Given the description of an element on the screen output the (x, y) to click on. 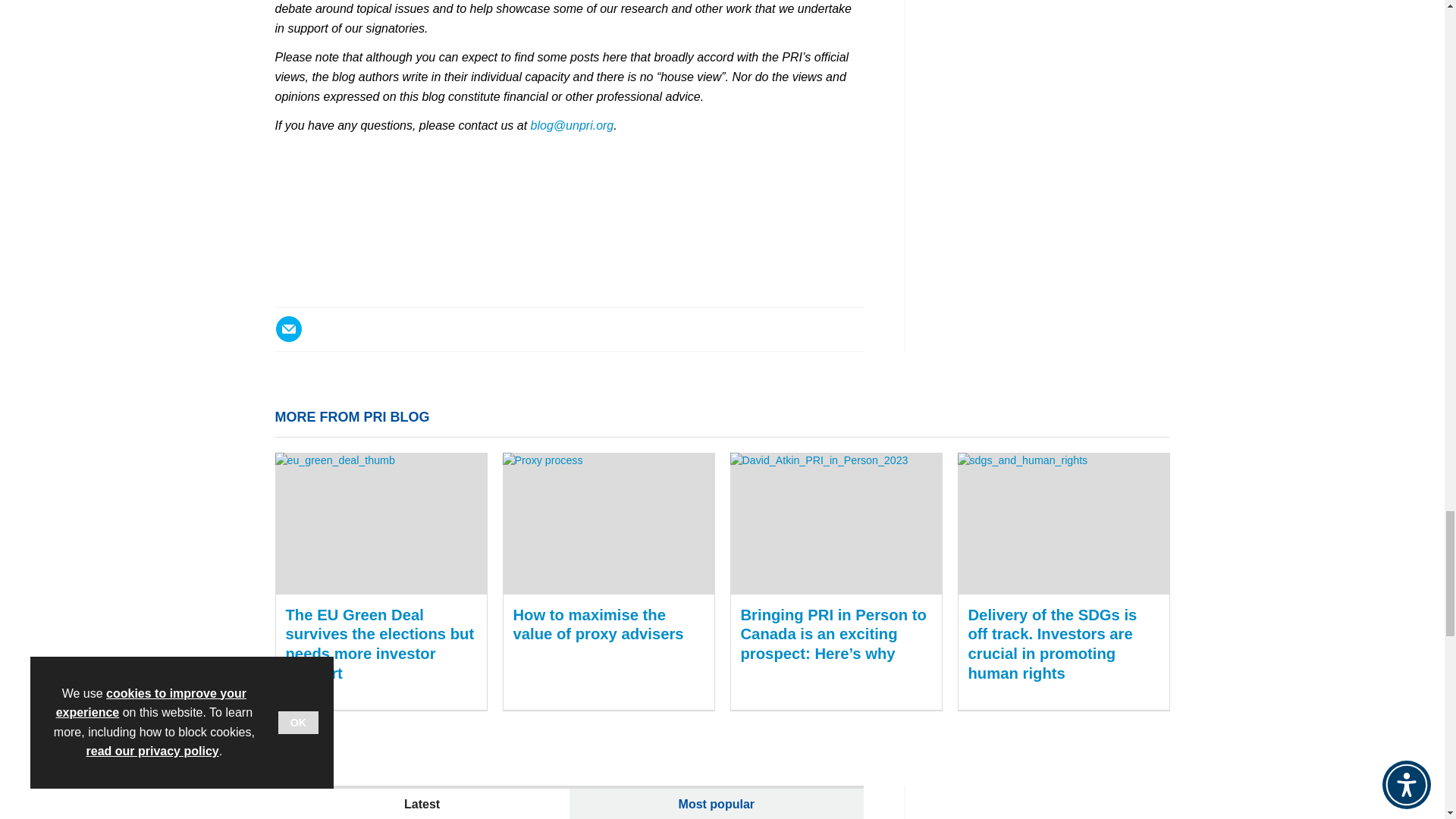
Email this article (288, 329)
